Given the description of an element on the screen output the (x, y) to click on. 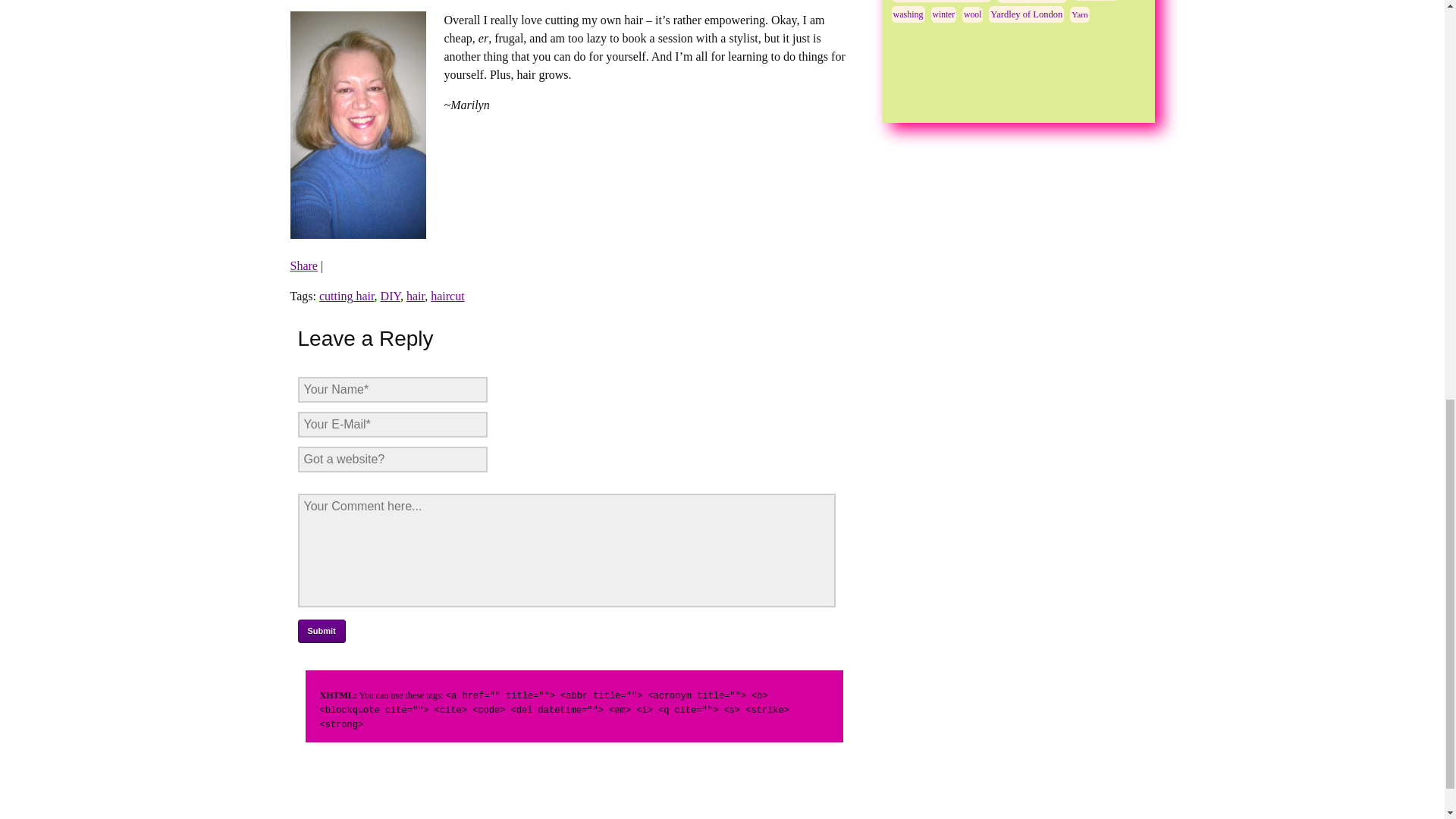
haircut (447, 295)
Submit (321, 630)
Submit (321, 630)
hair (415, 295)
DIY (390, 295)
Share (303, 265)
cutting hair (346, 295)
